Given the description of an element on the screen output the (x, y) to click on. 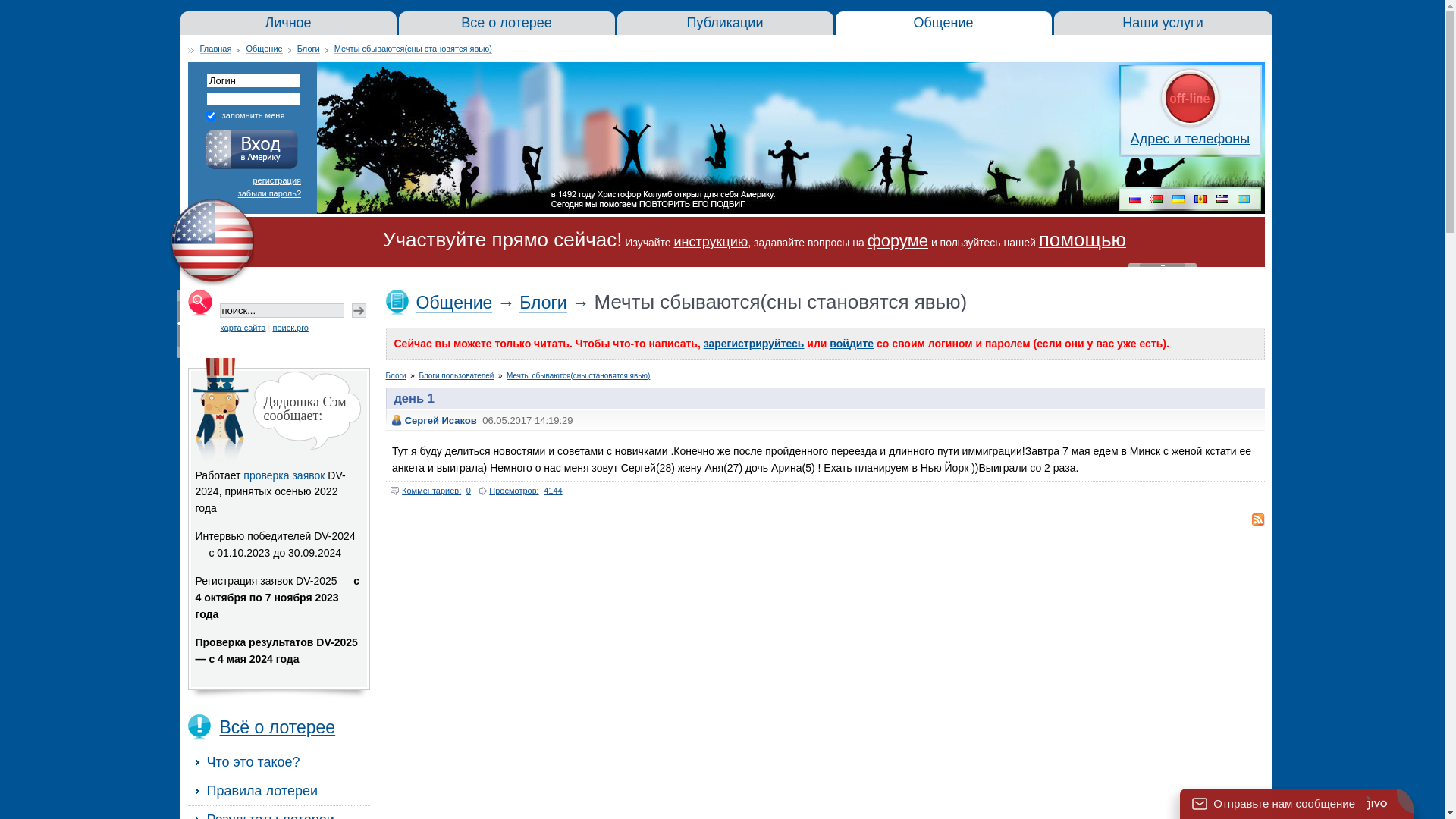
ru Element type: hover (1135, 200)
ua Element type: hover (1178, 200)
uz Element type: hover (1222, 200)
md Element type: hover (1200, 200)
kz Element type: hover (1243, 200)
by Element type: hover (1156, 200)
